Given the description of an element on the screen output the (x, y) to click on. 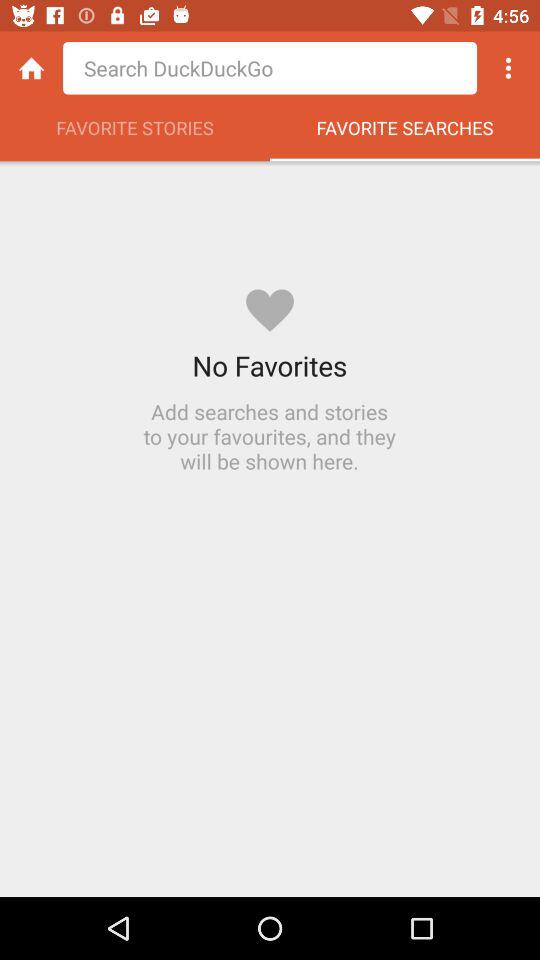
scroll until favorite searches app (405, 133)
